Given the description of an element on the screen output the (x, y) to click on. 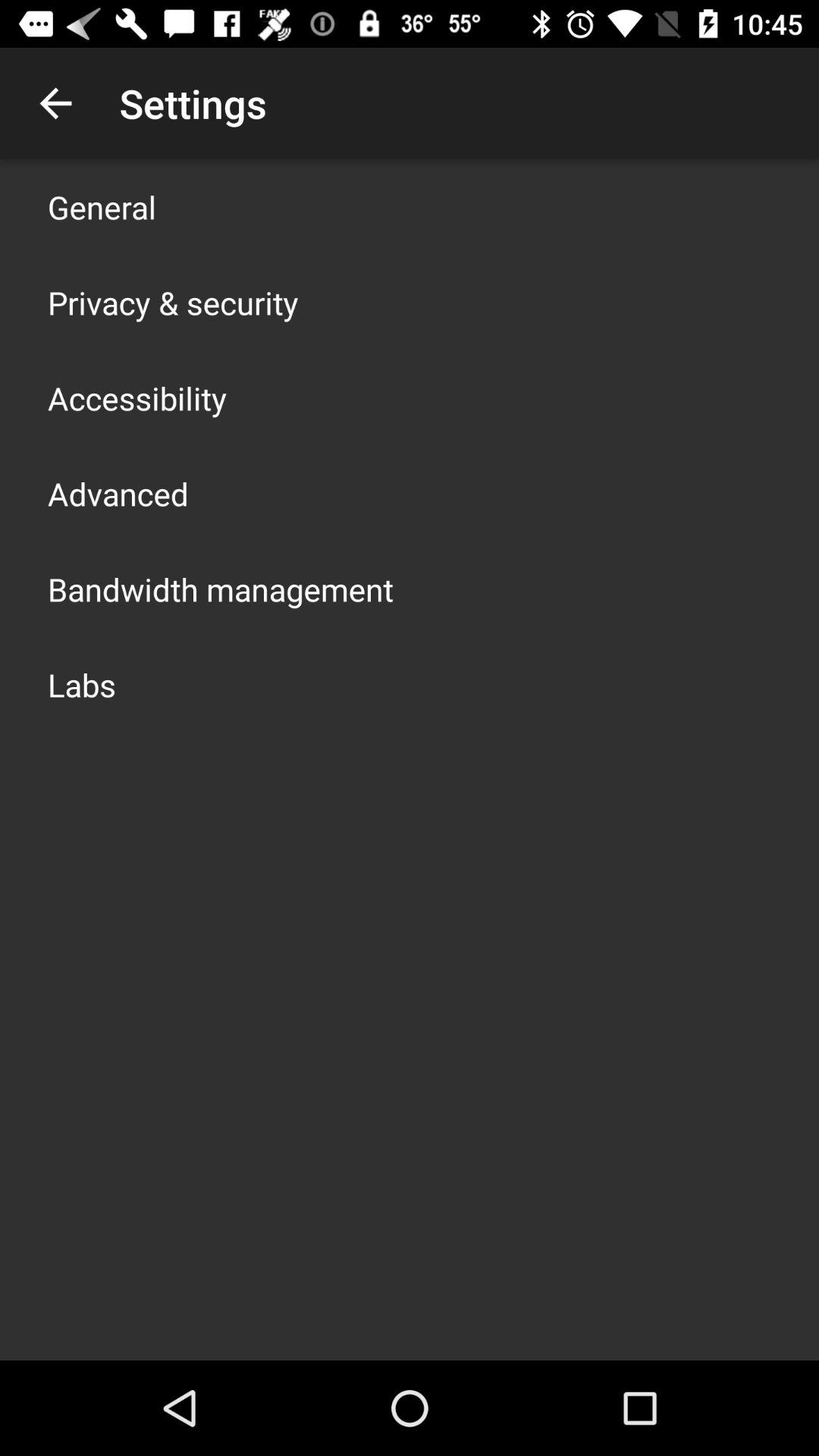
press bandwidth management icon (220, 588)
